Given the description of an element on the screen output the (x, y) to click on. 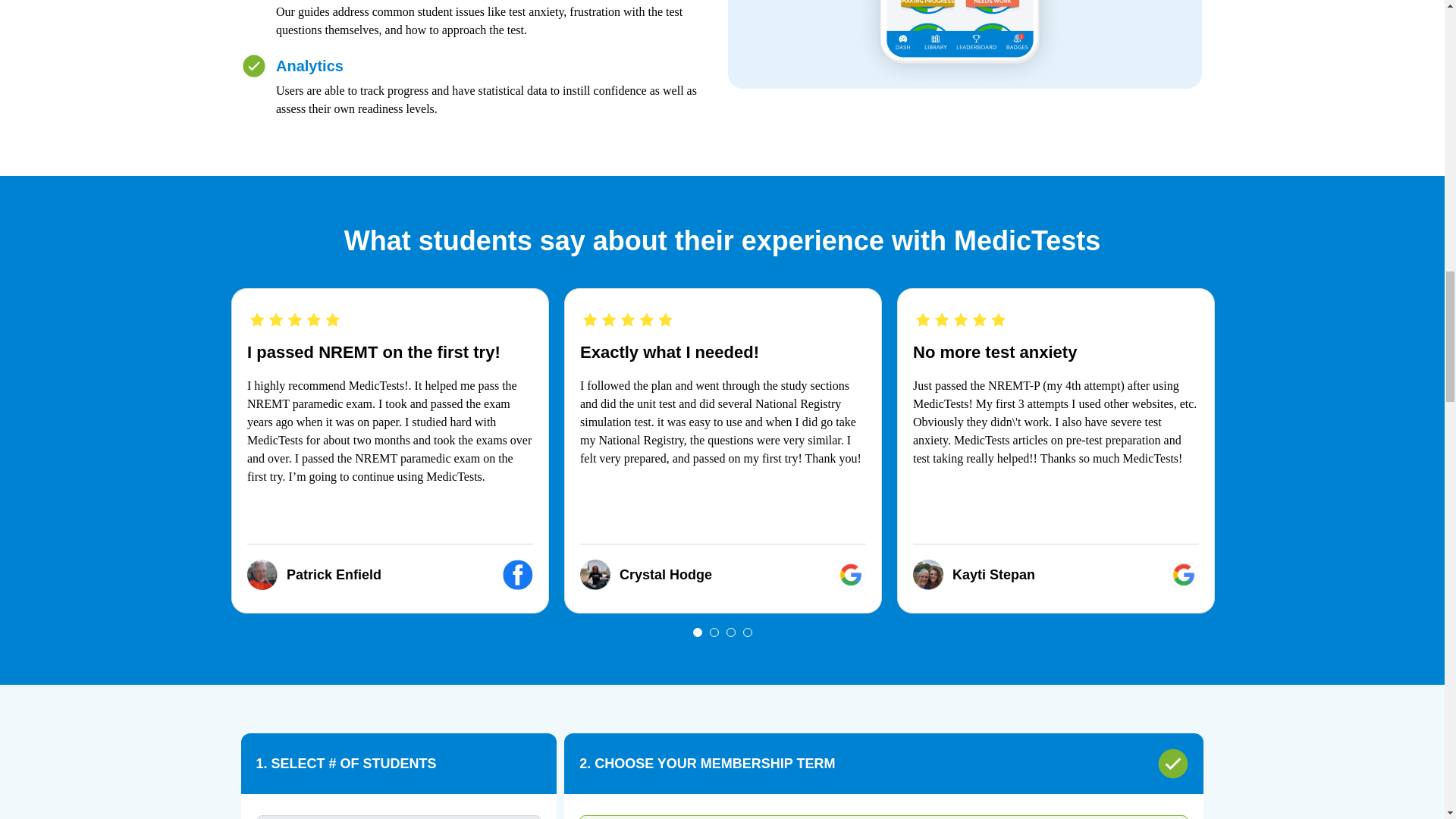
5 (398, 816)
